Given the description of an element on the screen output the (x, y) to click on. 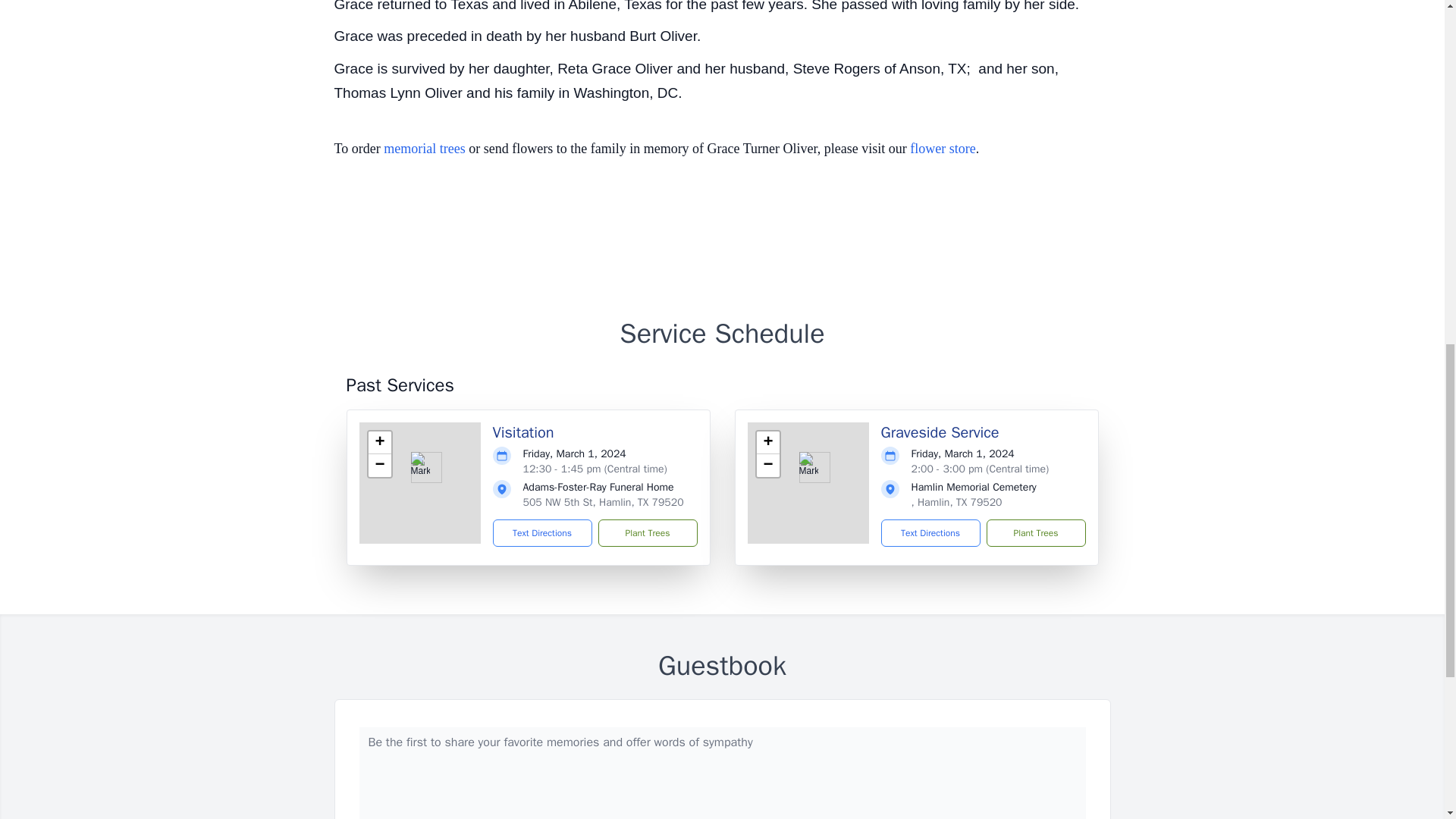
memorial trees (424, 148)
flower store (942, 148)
Plant Trees (646, 533)
505 NW 5th St, Hamlin, TX 79520 (603, 502)
Text Directions (542, 533)
Zoom out (767, 465)
, Hamlin, TX 79520 (957, 502)
Plant Trees (1034, 533)
Text Directions (929, 533)
Zoom in (379, 442)
